Given the description of an element on the screen output the (x, y) to click on. 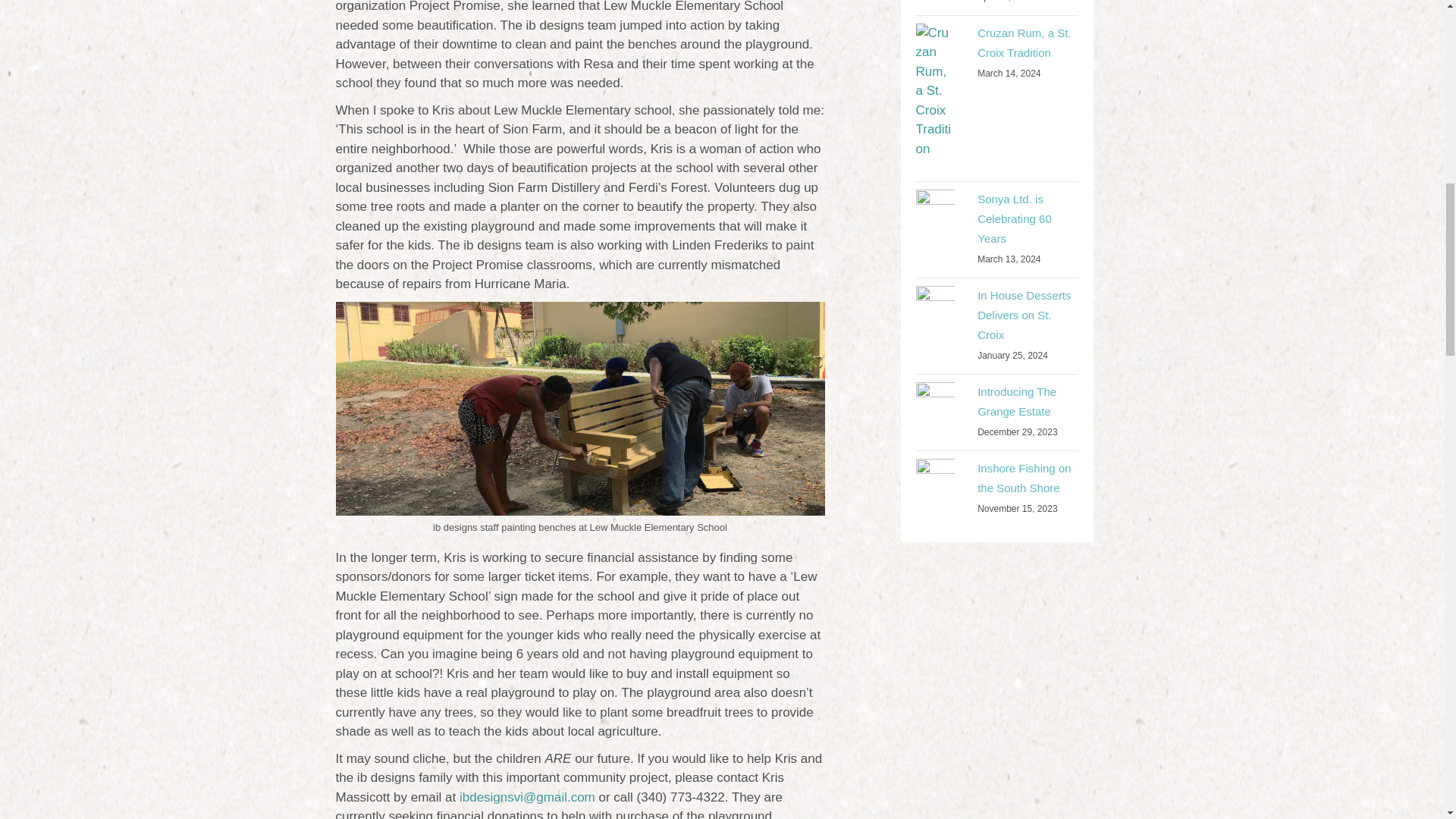
Sonya Ltd. is Celebrating 60 Years (1013, 218)
Cruzan Rum, a St. Croix Tradition (935, 101)
In House Desserts Delivers on St. Croix (935, 315)
Sonya Ltd. is Celebrating 60 Years (935, 219)
Cruzan Rum, a St. Croix Tradition (1023, 41)
In House Desserts Delivers on St. Croix (1023, 315)
